Given the description of an element on the screen output the (x, y) to click on. 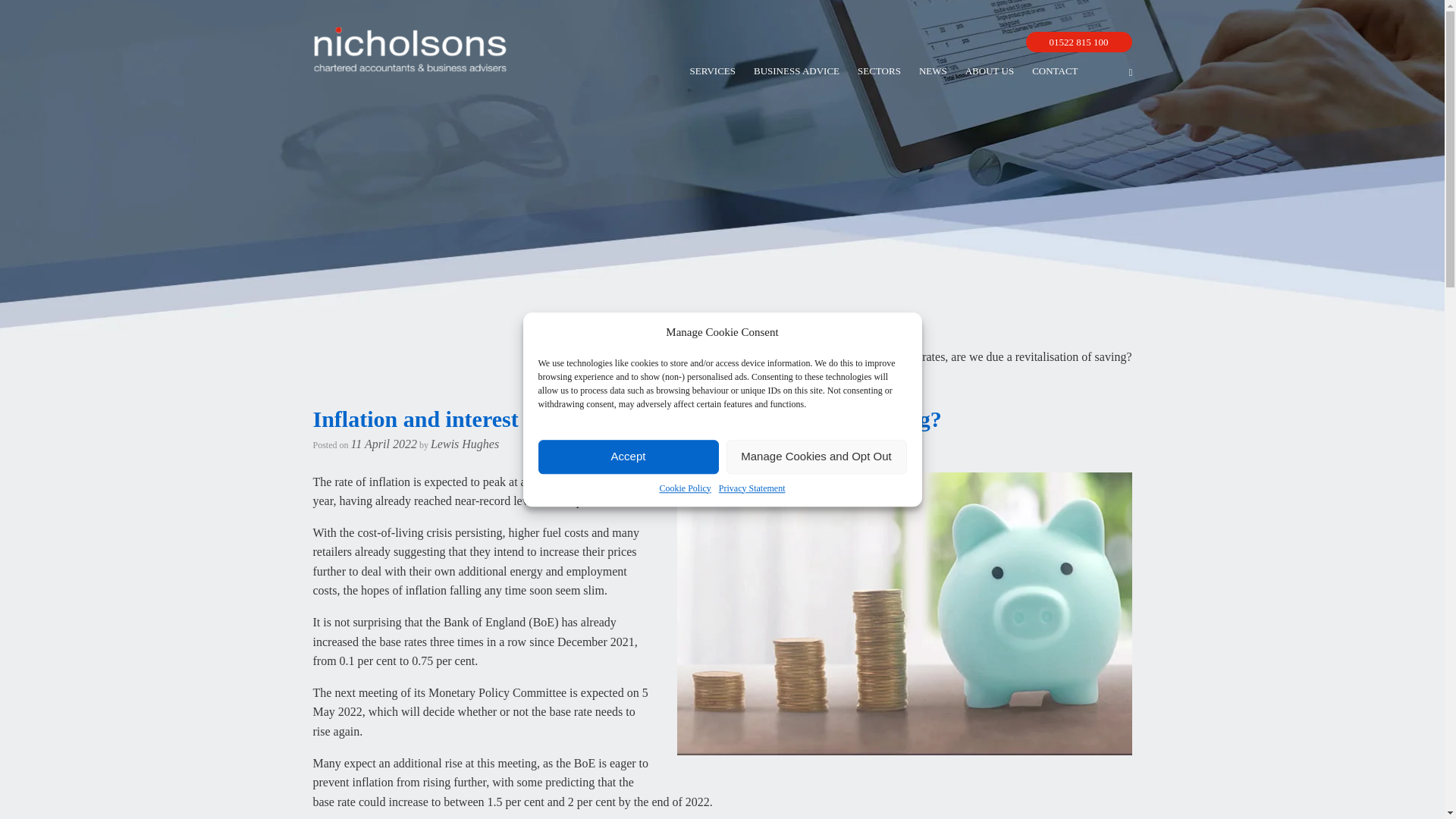
SERVICES (712, 70)
01522 815 100 (1078, 41)
Privacy Statement (752, 488)
View all posts by Lewis Hughes (464, 442)
Go to the Blog category archives. (793, 356)
Go to All news. (746, 356)
Nicholsons Chartered Accountants (409, 49)
Go to Nicholsons Chartered Accountants. (628, 356)
8:21 am (383, 442)
BUSINESS ADVICE (796, 70)
Secure payment (849, 41)
Cookie Policy (685, 488)
Accept (628, 456)
Manage Cookies and Opt Out (816, 456)
